Given the description of an element on the screen output the (x, y) to click on. 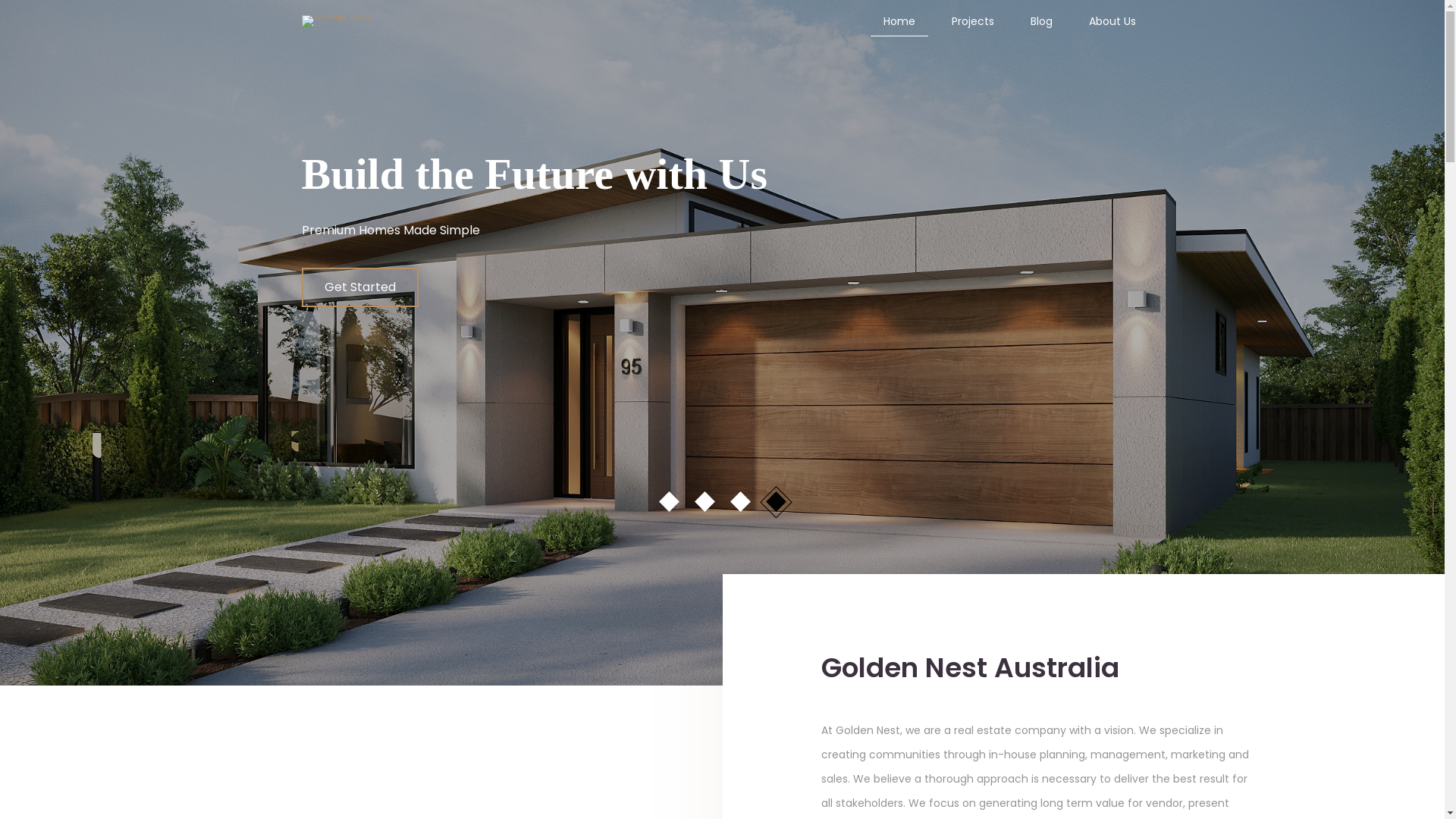
Get Started Element type: text (359, 287)
About Us Element type: text (1112, 20)
3 Element type: text (737, 498)
Projects Element type: text (972, 20)
Group 1057 Element type: hover (336, 21)
Home Element type: text (898, 20)
4 Element type: text (772, 498)
2 Element type: text (701, 498)
1 Element type: text (665, 498)
Blog Element type: text (1040, 20)
